Given the description of an element on the screen output the (x, y) to click on. 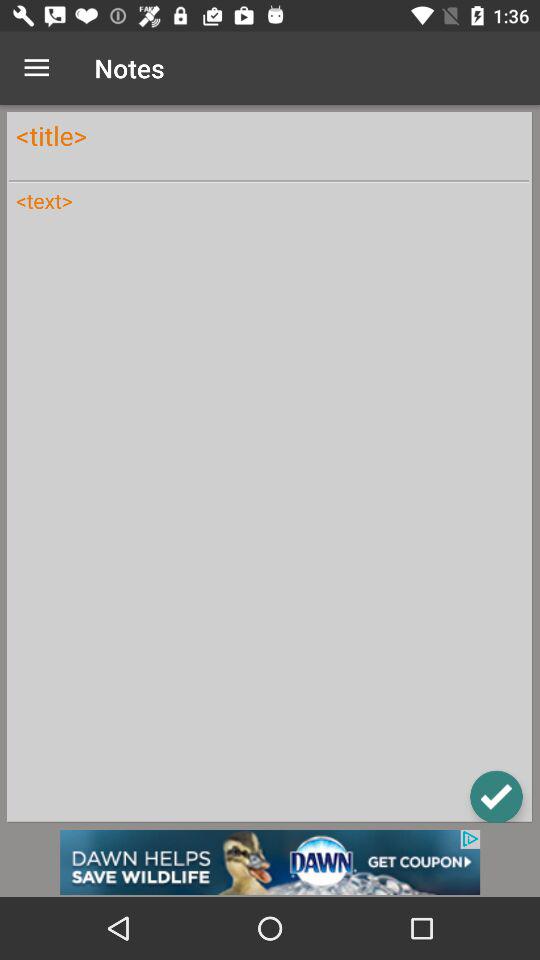
change title (269, 135)
